Given the description of an element on the screen output the (x, y) to click on. 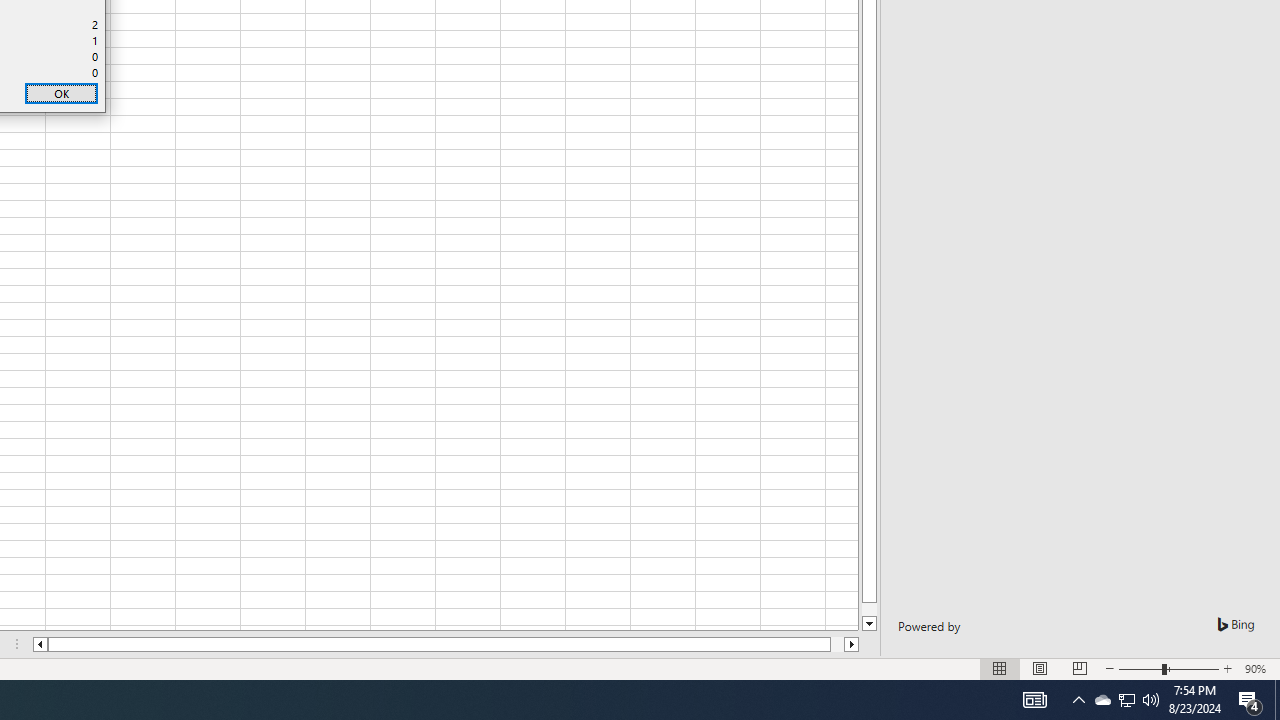
User Promoted Notification Area (1126, 699)
Line down (1126, 699)
Class: NetUIScrollBar (869, 624)
Page Break Preview (445, 644)
Page Layout (1079, 668)
